Given the description of an element on the screen output the (x, y) to click on. 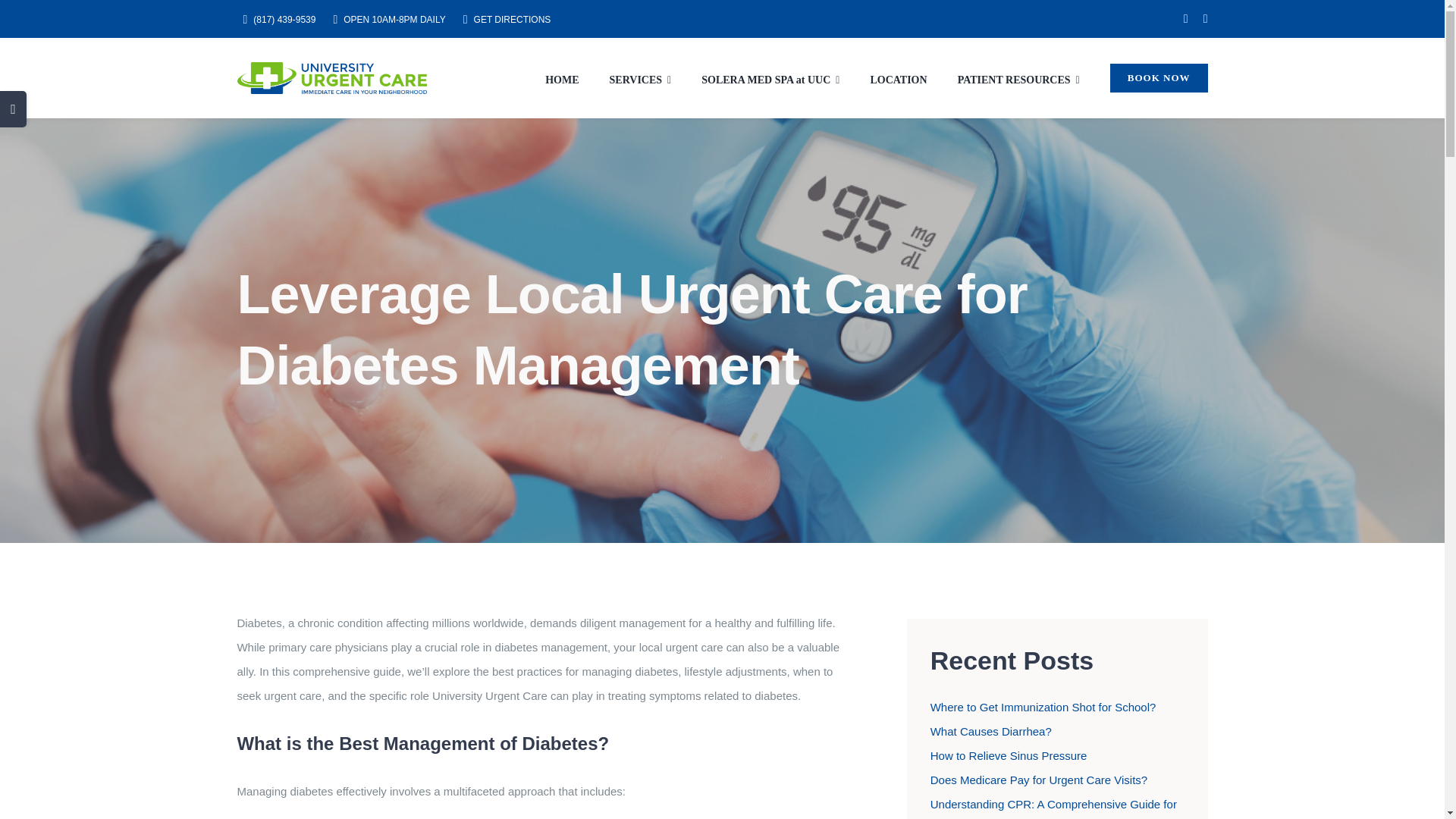
SOLERA MED SPA at UUC (770, 77)
SERVICES (640, 77)
LOCATION (897, 77)
OPEN 10AM-8PM DAILY (385, 19)
GET DIRECTIONS (504, 19)
PATIENT RESOURCES (1019, 77)
